Given the description of an element on the screen output the (x, y) to click on. 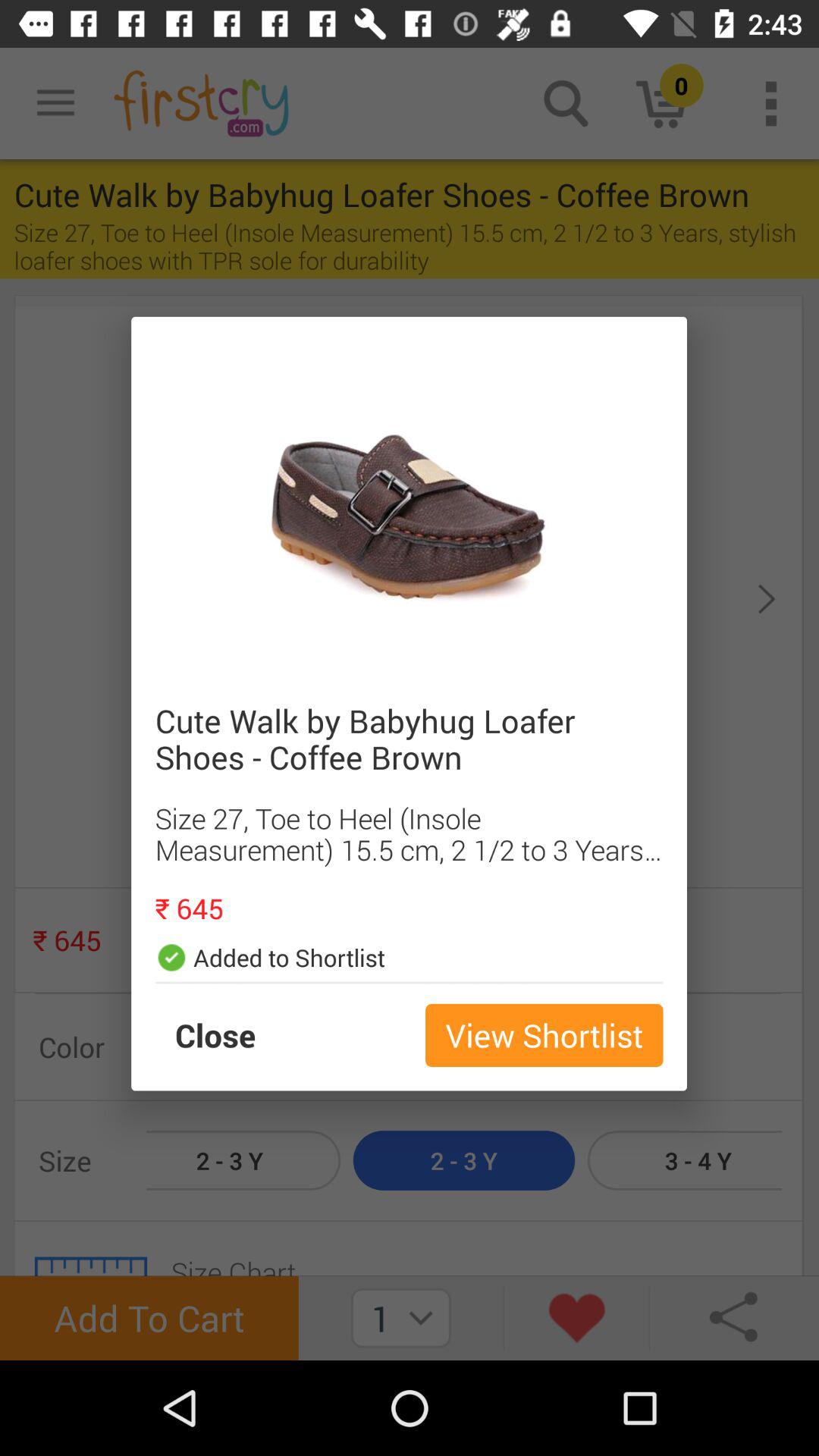
choose the icon to the right of close item (544, 1034)
